Given the description of an element on the screen output the (x, y) to click on. 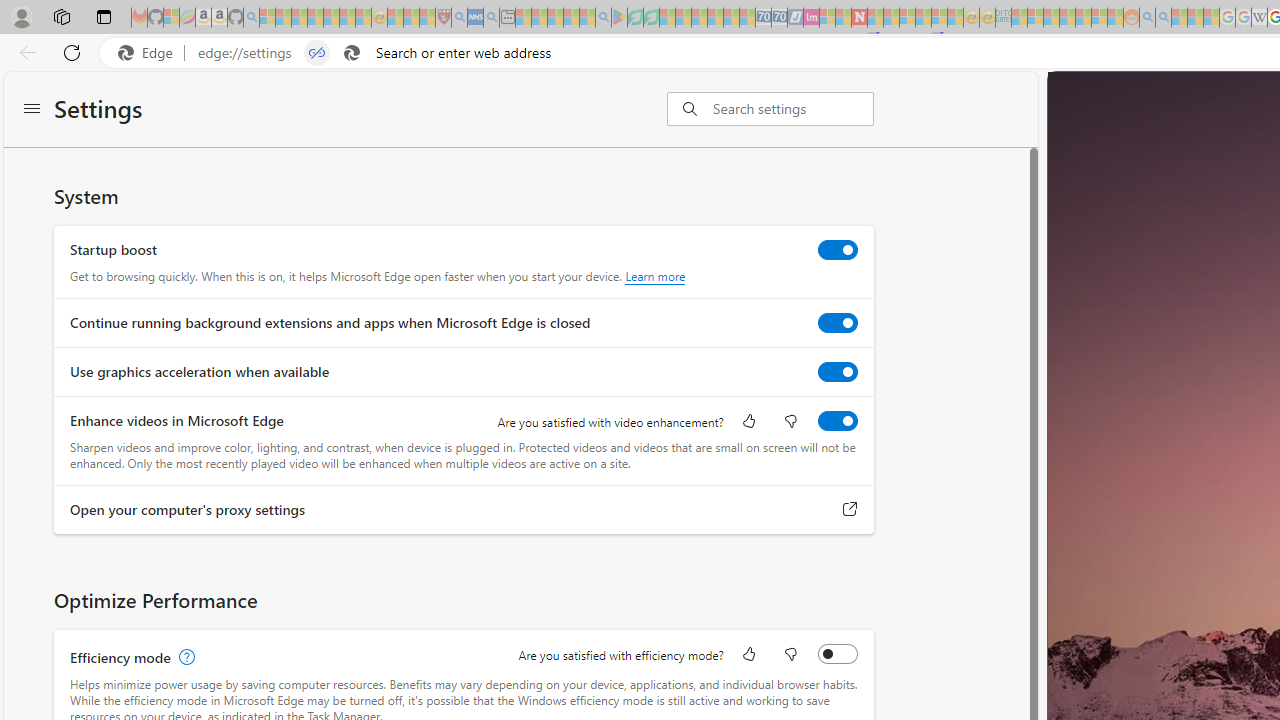
Target page - Wikipedia - Sleeping (1259, 17)
Tabs in split screen (317, 53)
Settings menu (31, 110)
Edge (150, 53)
